Given the description of an element on the screen output the (x, y) to click on. 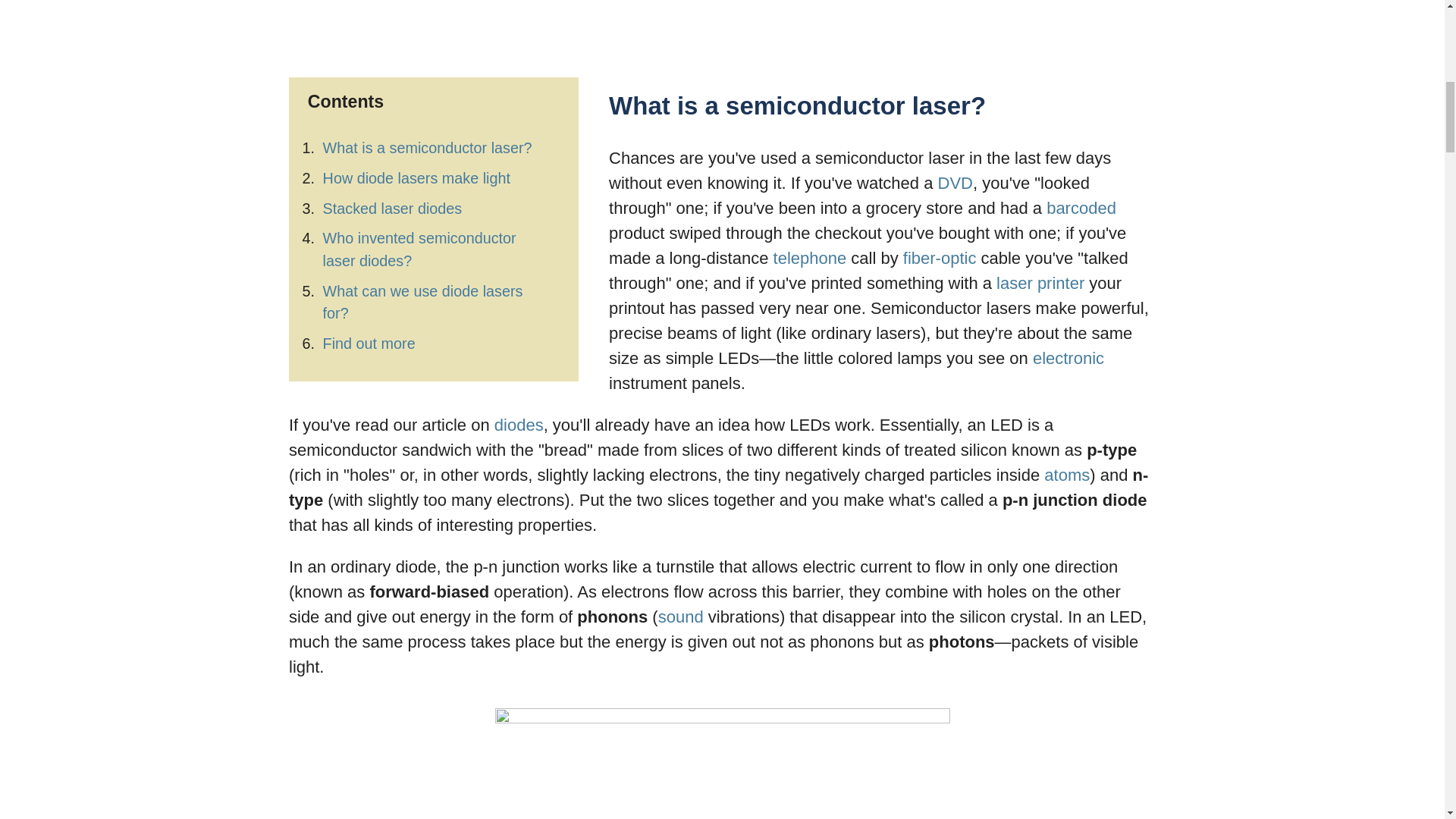
DVD (954, 182)
electronic (1067, 357)
sound (680, 616)
How diode lasers make light (417, 177)
What can we use diode lasers for? (422, 302)
Who invented semiconductor laser diodes? (419, 249)
barcoded (1081, 208)
laser printer (1039, 282)
telephone (810, 257)
atoms (1066, 475)
What is a semiconductor laser? (427, 147)
diodes (519, 424)
Find out more (368, 343)
Advertisement (435, 150)
fiber-optic (939, 257)
